Given the description of an element on the screen output the (x, y) to click on. 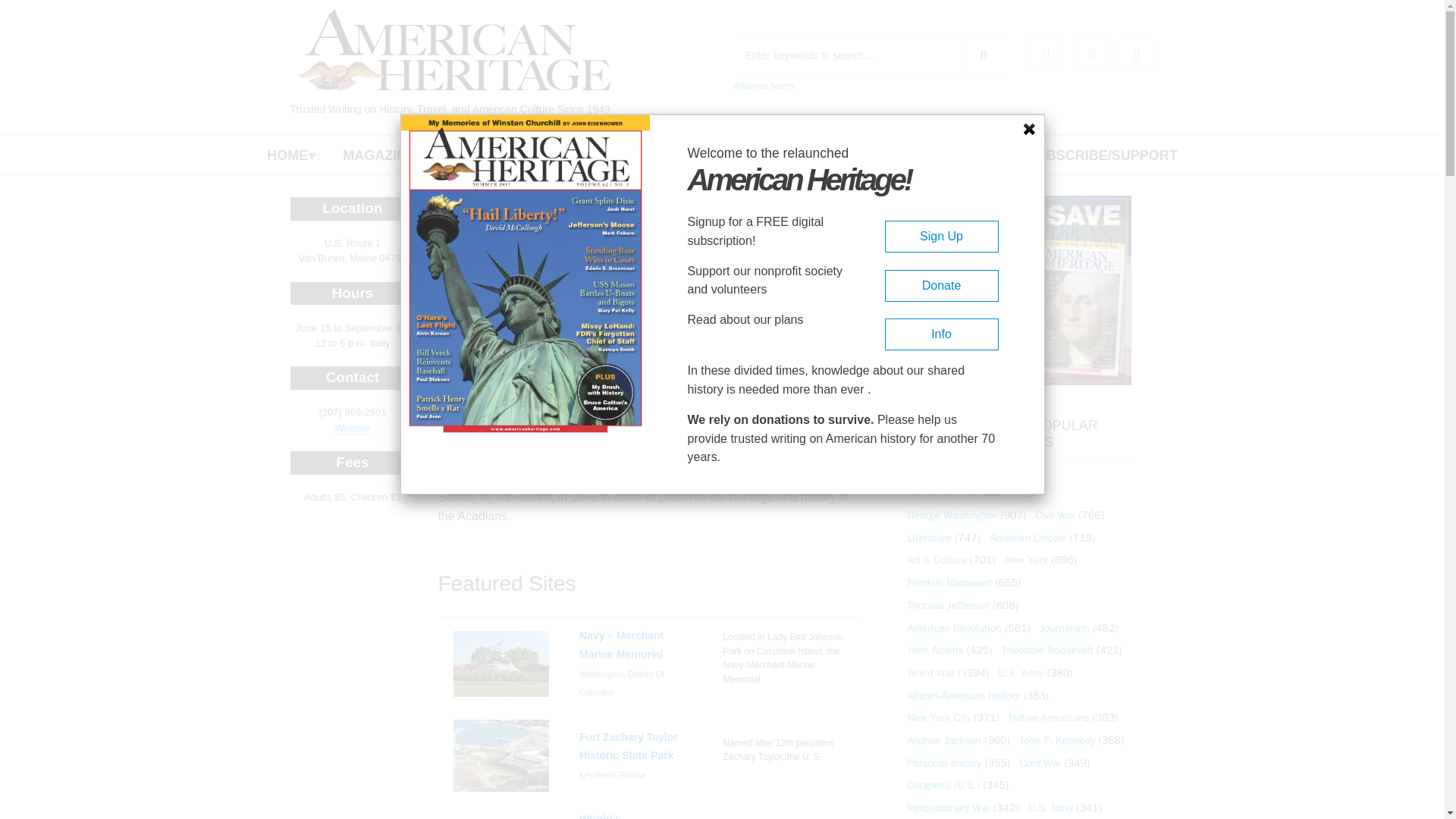
Facebook (1045, 54)
Enter the terms you wish to search for. (870, 55)
Search (982, 54)
Search (982, 54)
Search (982, 54)
RSS (1136, 54)
Advanced Search (763, 85)
Home (453, 50)
Fort Zachary Taylor Historic State Park (501, 755)
Twitter (1091, 54)
